Given the description of an element on the screen output the (x, y) to click on. 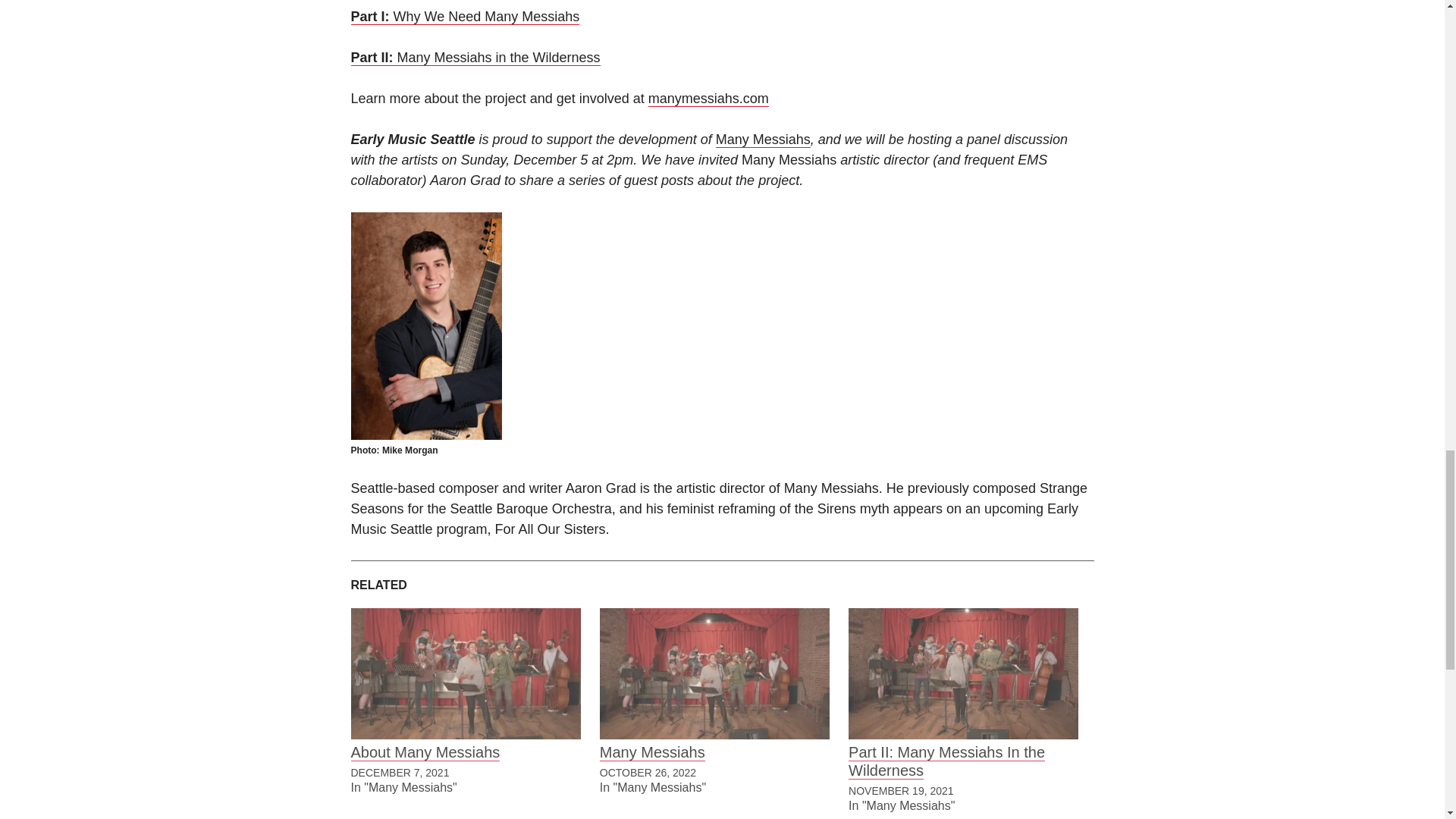
Many Messiahs (714, 673)
About Many Messiahs (464, 673)
Part II: Many Messiahs In the Wilderness (963, 673)
About Many Messiahs (424, 752)
Part II: Many Messiahs In the Wilderness (946, 761)
Many Messiahs (651, 752)
